Given the description of an element on the screen output the (x, y) to click on. 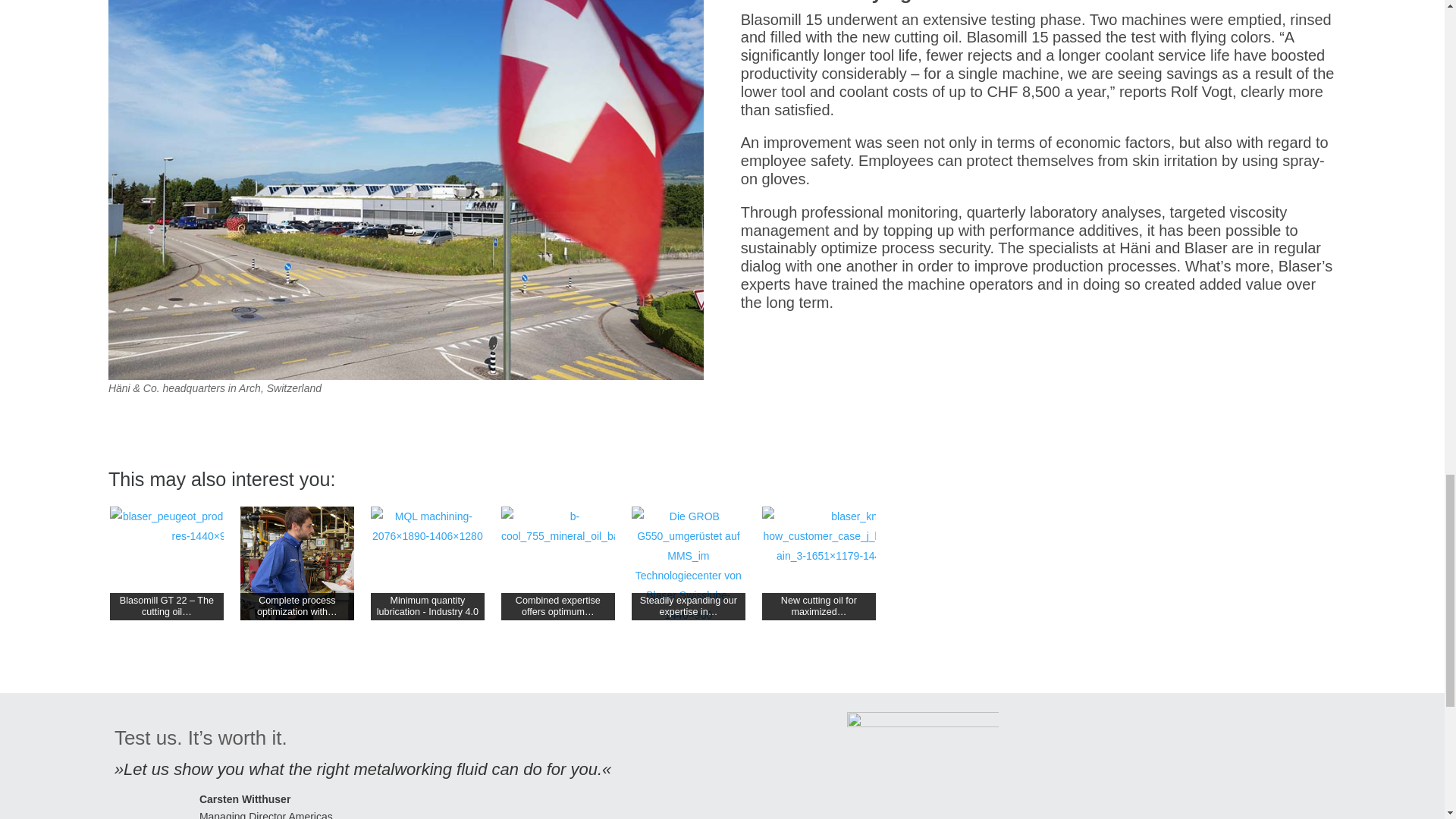
Minimum quantity lubrication - Industry 4.0 (427, 562)
Combined expertise offers optimum process security (568, 526)
Barrel2x (922, 765)
Minimum quantity lubrication - Industry 4.0 (427, 526)
